Given the description of an element on the screen output the (x, y) to click on. 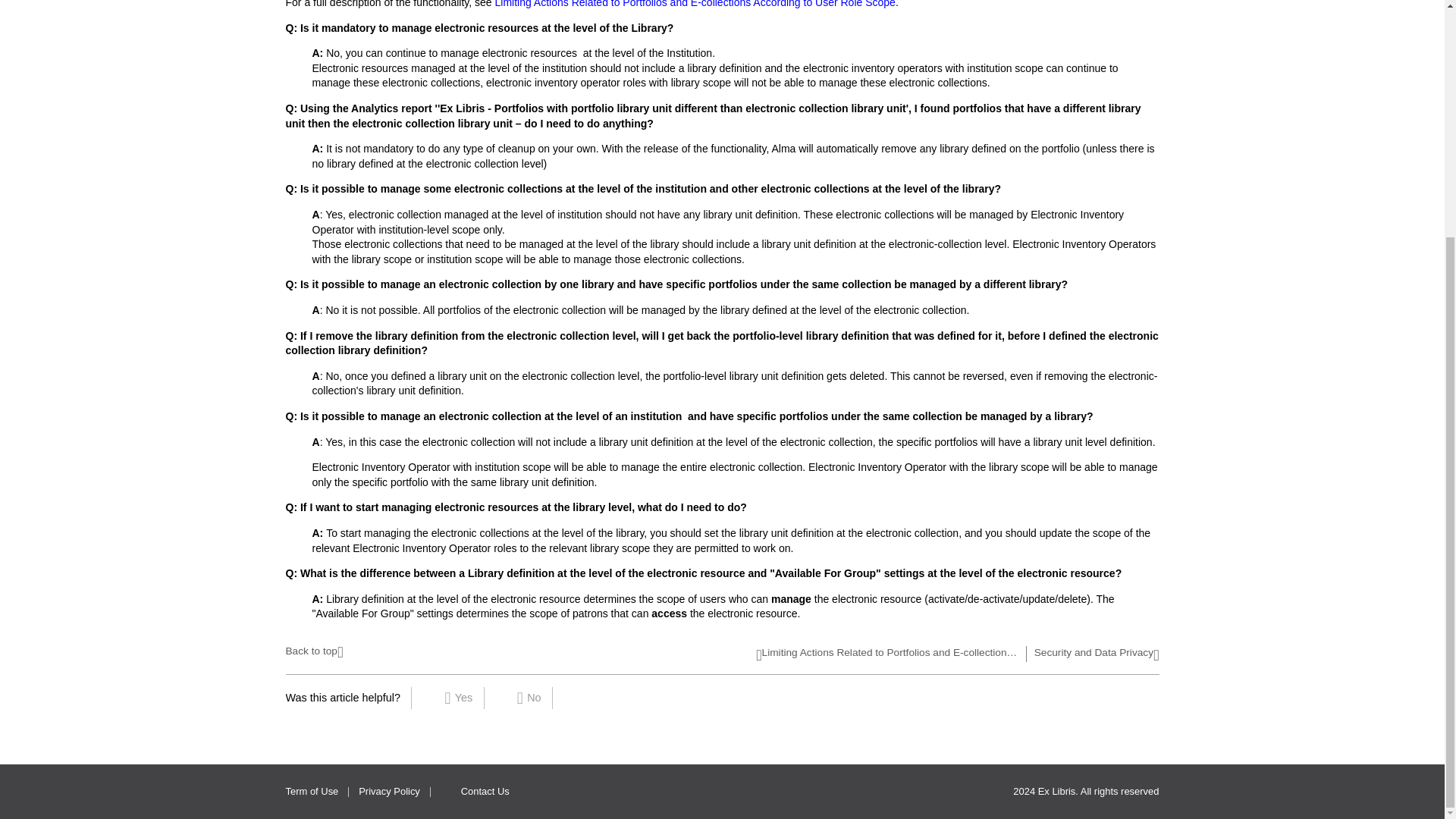
Security and Data Privacy (1095, 655)
Back to top (313, 649)
Yes (459, 698)
Jump back to top of this article (313, 649)
No (528, 698)
